Given the description of an element on the screen output the (x, y) to click on. 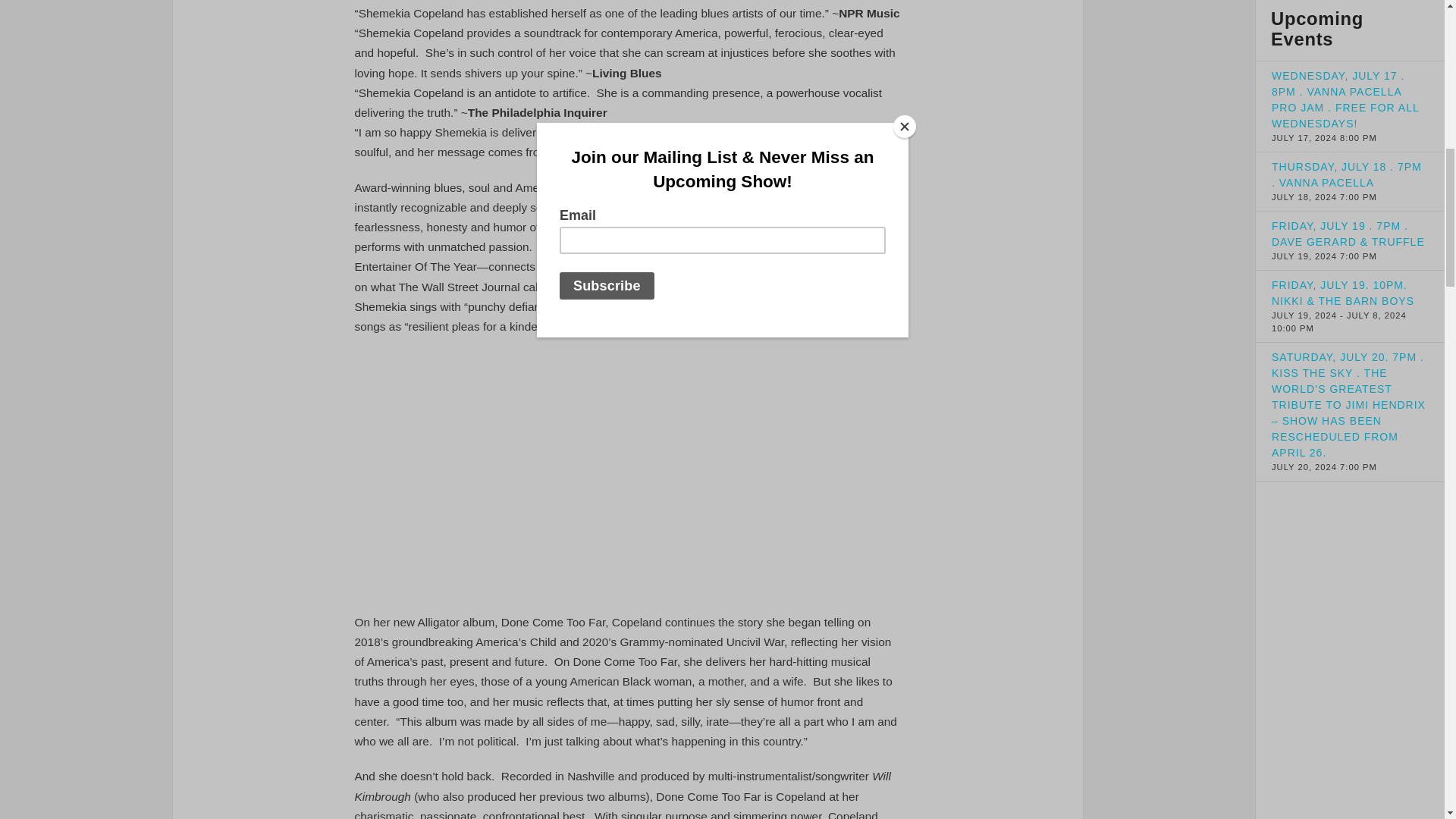
YouTube video player (628, 471)
